Given the description of an element on the screen output the (x, y) to click on. 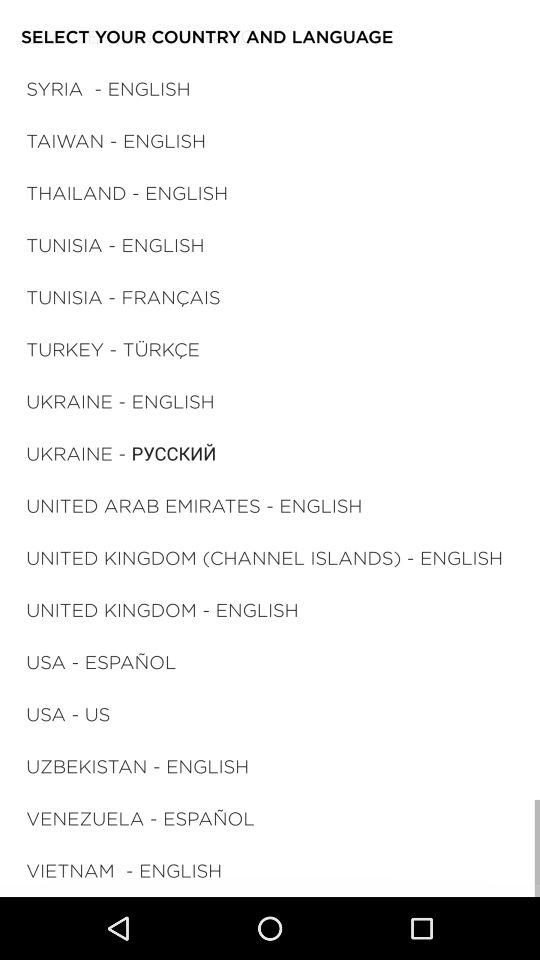
scroll until usa - us item (68, 713)
